Given the description of an element on the screen output the (x, y) to click on. 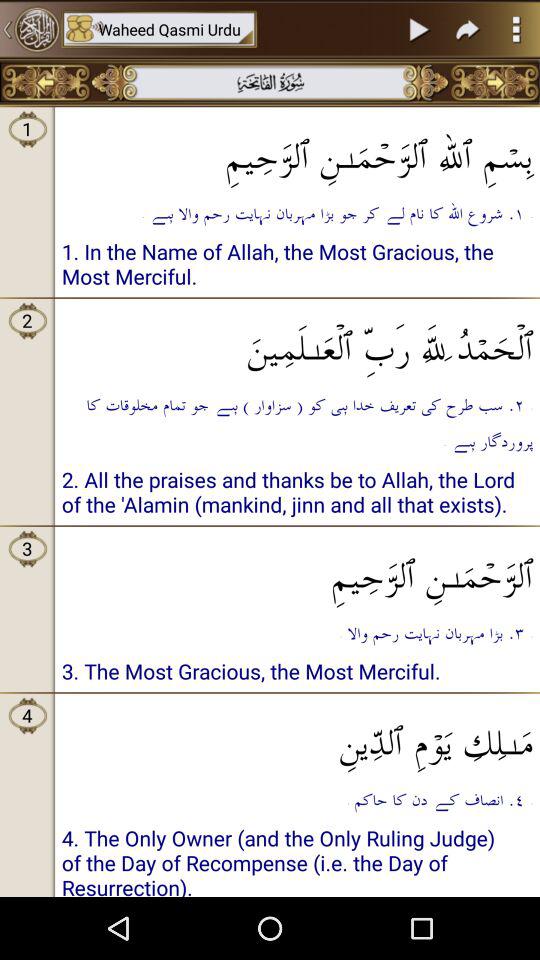
show more options (516, 29)
